Given the description of an element on the screen output the (x, y) to click on. 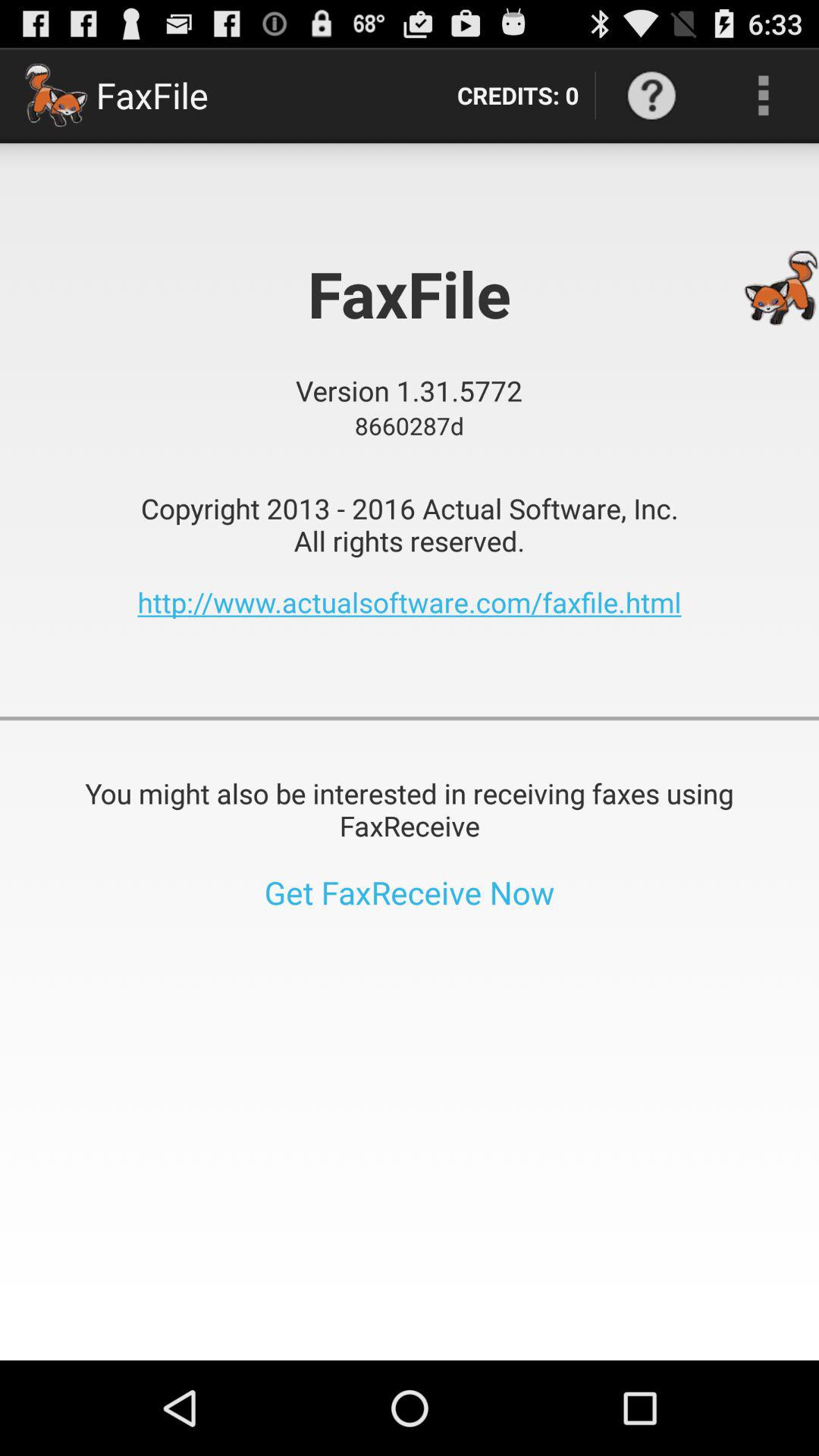
tap item next to the credits: 0 item (651, 95)
